Given the description of an element on the screen output the (x, y) to click on. 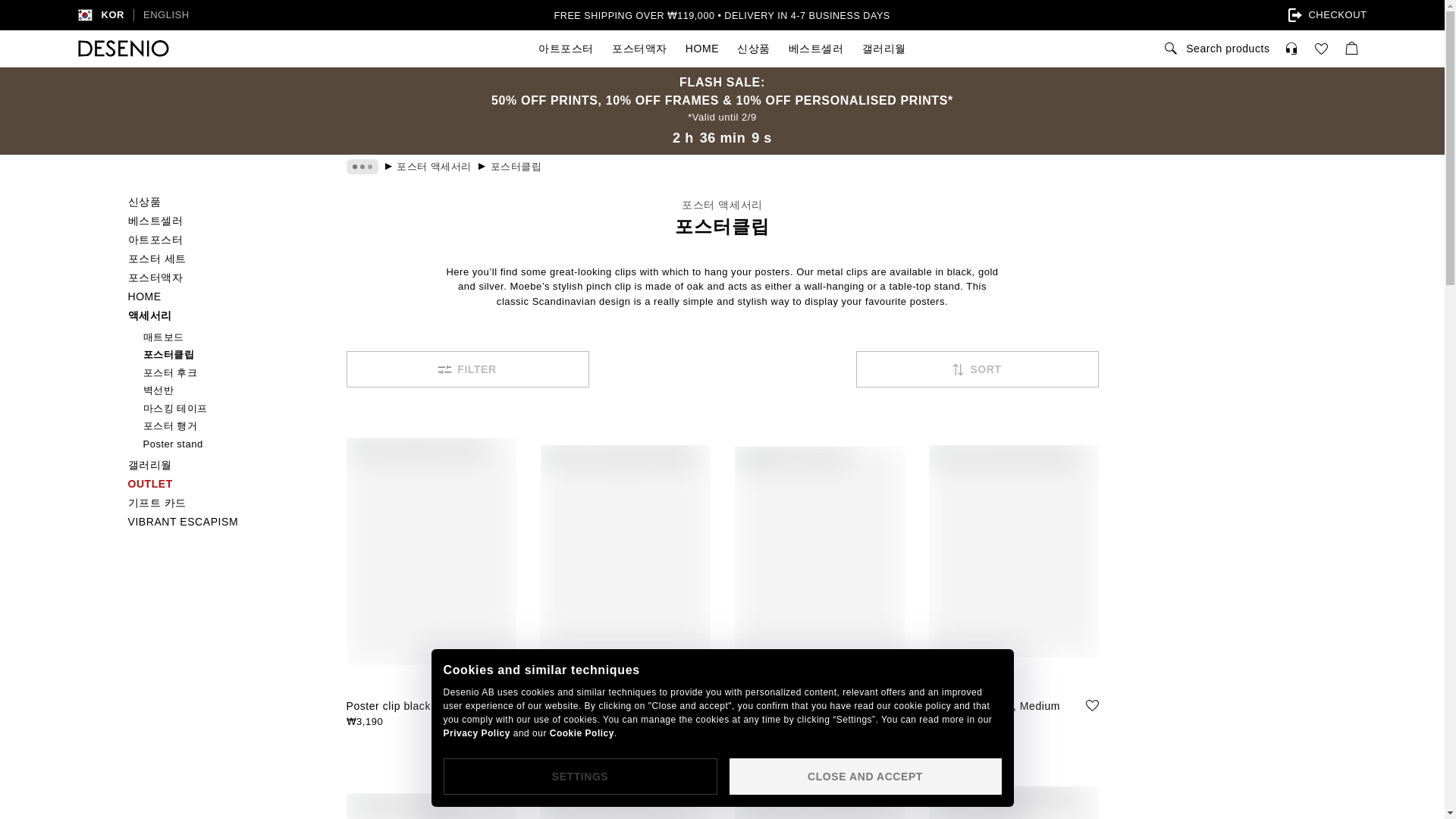
CLOSE AND ACCEPT (149, 15)
Search products (865, 776)
Privacy Policy (1215, 48)
SETTINGS (475, 733)
CHECKOUT (579, 776)
Cookie Policy (1294, 15)
OUTLET (582, 733)
HOME (224, 483)
Poster stand (224, 295)
